Given the description of an element on the screen output the (x, y) to click on. 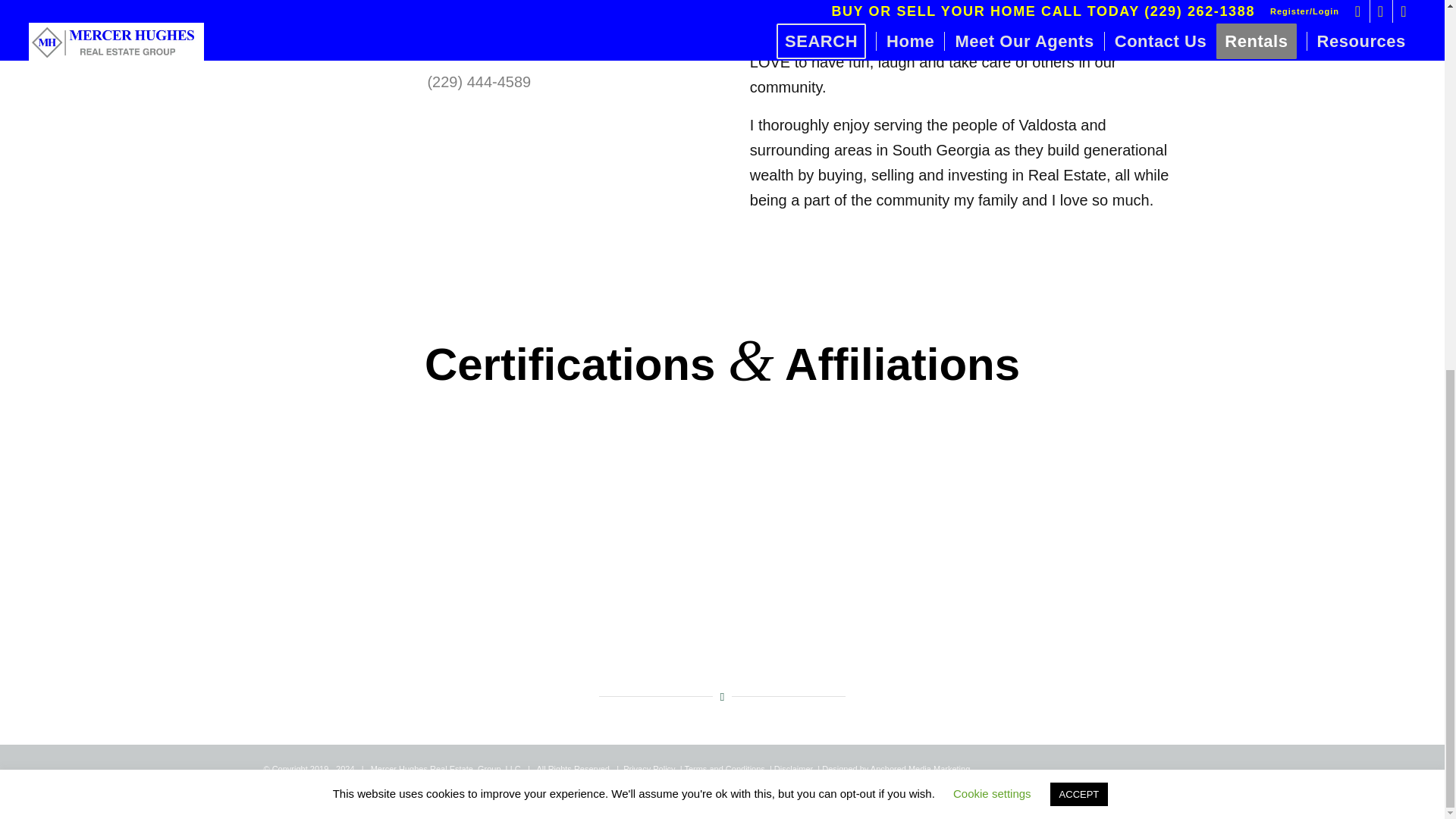
Contact Laura (478, 44)
Disclaimer (793, 768)
Privacy Policy (649, 768)
DMCA.com Protection Status (45, 805)
Terms and Conditions (724, 768)
Cookie settings (991, 121)
Anchored Media Marketing (919, 768)
